Given the description of an element on the screen output the (x, y) to click on. 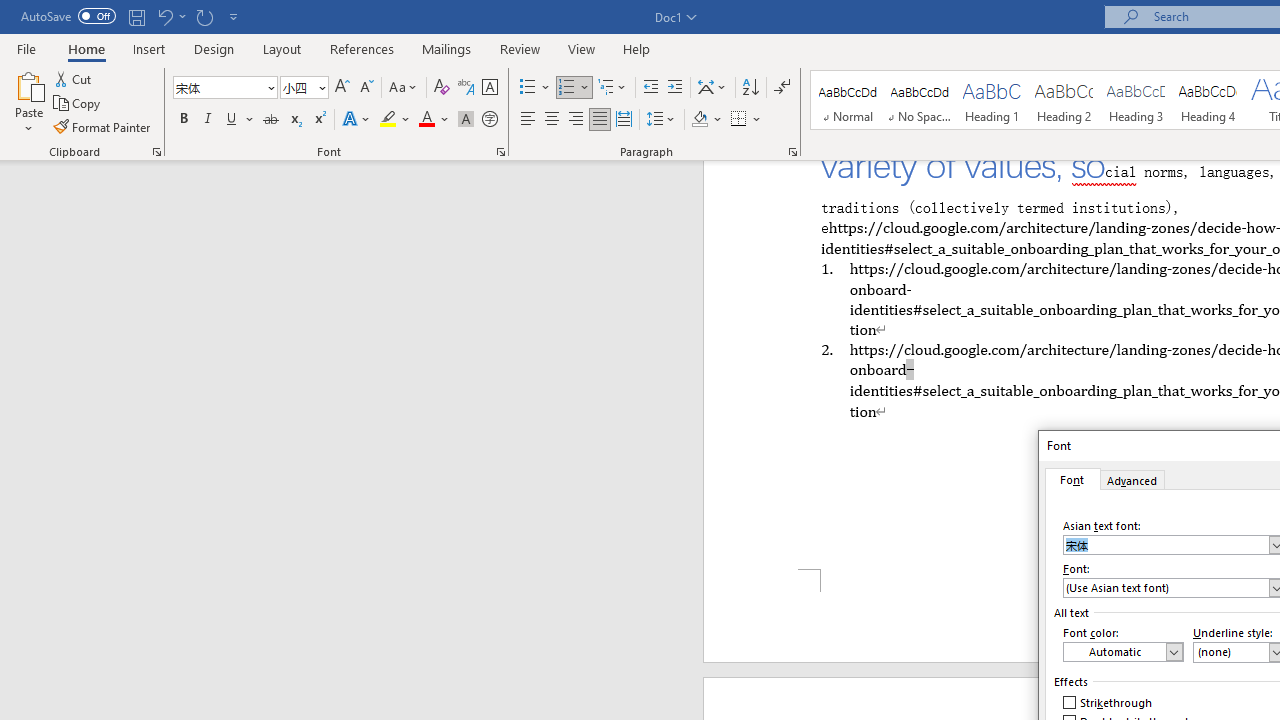
Undo Apply Quick Style (164, 15)
Undo Apply Quick Style (170, 15)
Subscript (294, 119)
Office Clipboard... (156, 151)
Heading 3 (1135, 100)
Character Border (489, 87)
Shading RGB(0, 0, 0) (699, 119)
Font Color Automatic (426, 119)
Strikethrough (1108, 702)
